Given the description of an element on the screen output the (x, y) to click on. 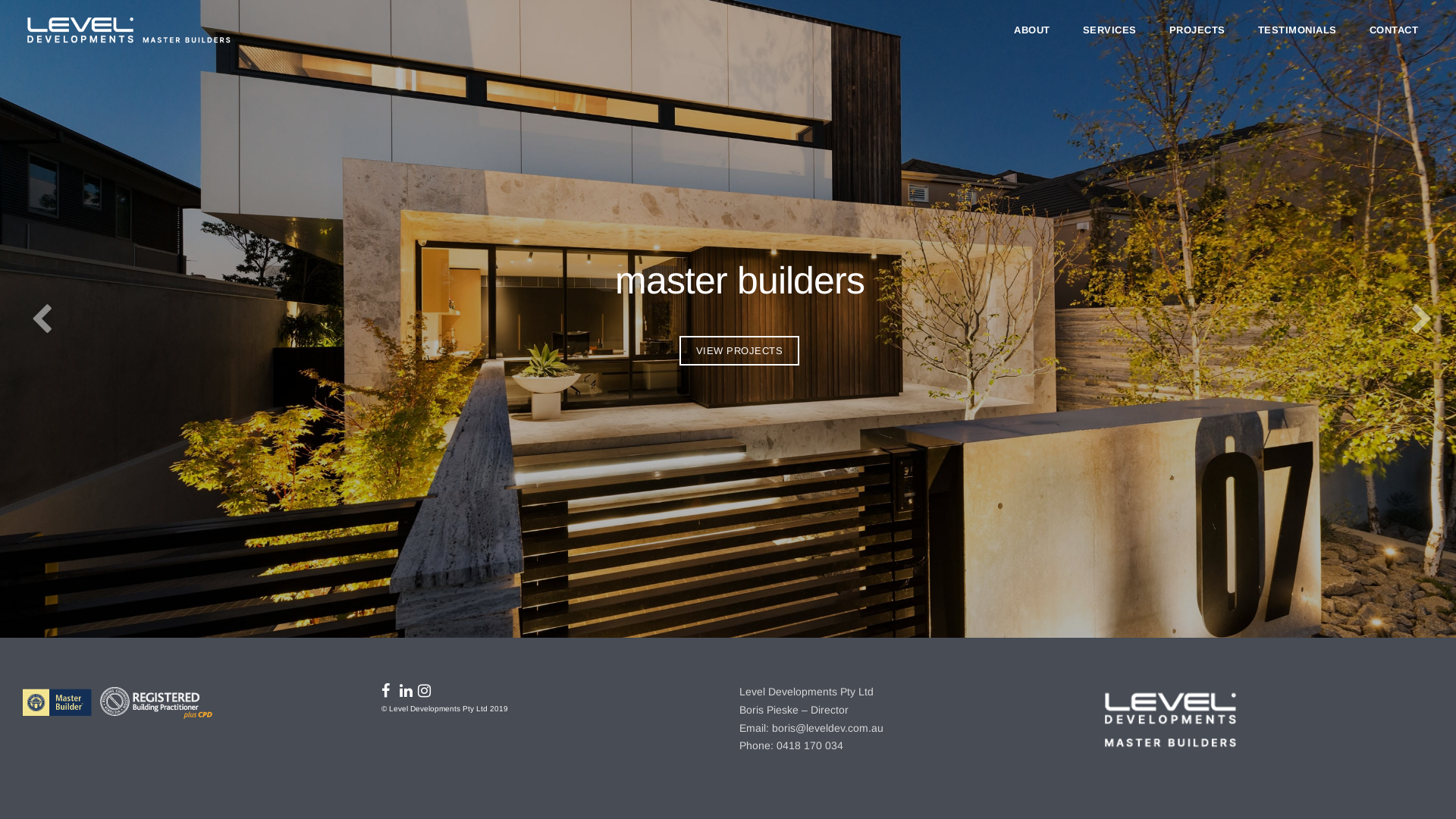
VIEW PROJECTS Element type: text (739, 350)
SERVICES Element type: text (1109, 30)
0418 170 034 Element type: text (809, 745)
CONTACT Element type: text (1394, 30)
PROJECTS Element type: text (1197, 30)
boris@leveldev.com.au Element type: text (827, 727)
TESTIMONIALS Element type: text (1296, 30)
ABOUT Element type: text (1031, 30)
